Given the description of an element on the screen output the (x, y) to click on. 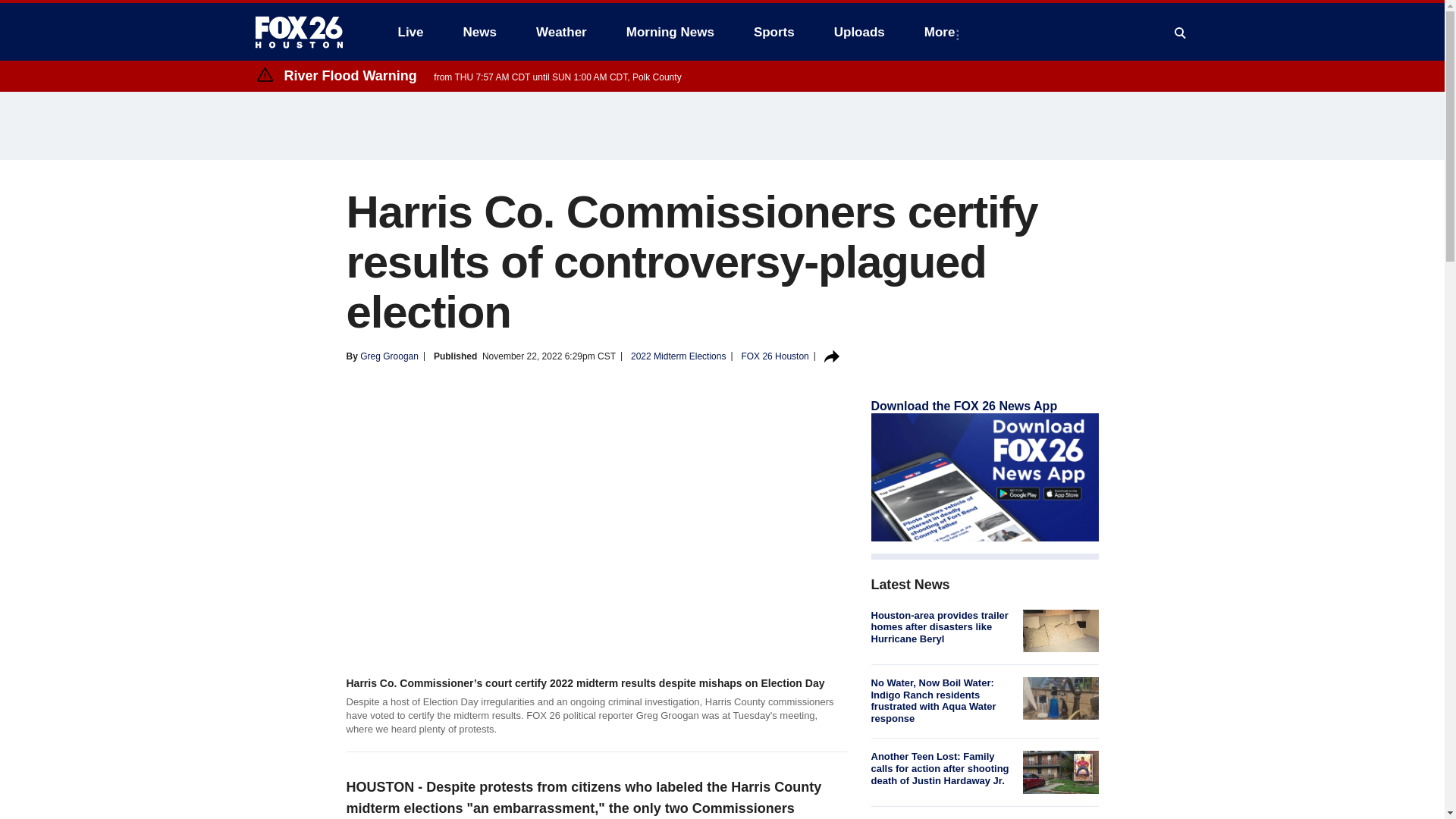
Weather (561, 32)
Uploads (859, 32)
Morning News (670, 32)
News (479, 32)
Live (410, 32)
Sports (773, 32)
More (943, 32)
